Given the description of an element on the screen output the (x, y) to click on. 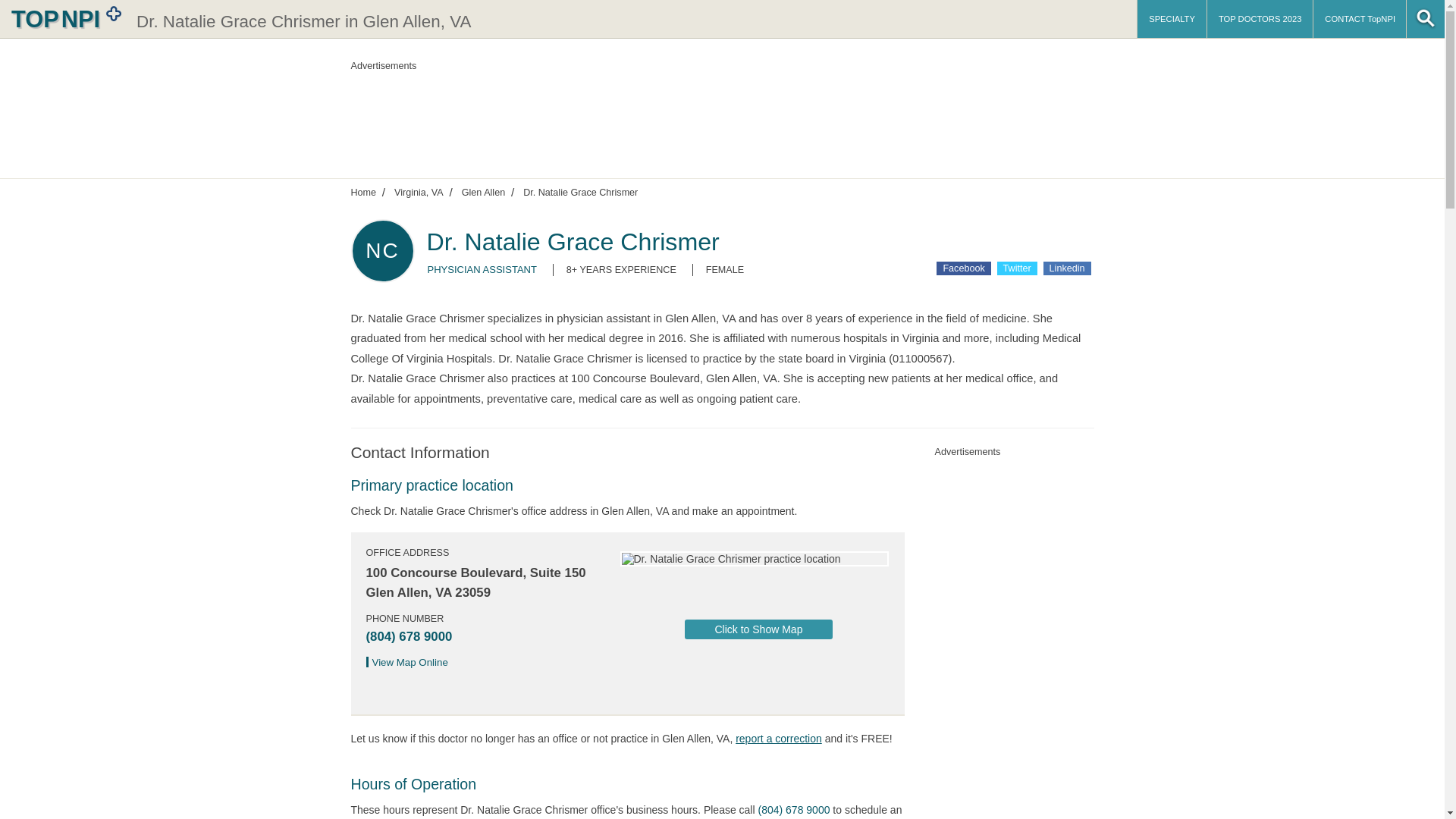
Click to Show Map (758, 629)
Doctors in Virginia (419, 191)
Linkedin (1066, 268)
Contact topnpi.com (1359, 18)
Share Dr. Natalie Grace Chrismer on Twitter (1016, 268)
Share Dr. Natalie Grace Chrismer on Linkedin (1066, 268)
Share Dr. Natalie Grace Chrismer on Facebook (963, 268)
Find doctors by specialty (1172, 18)
Dr. Natalie online map (411, 662)
Glen Allen (483, 191)
